Given the description of an element on the screen output the (x, y) to click on. 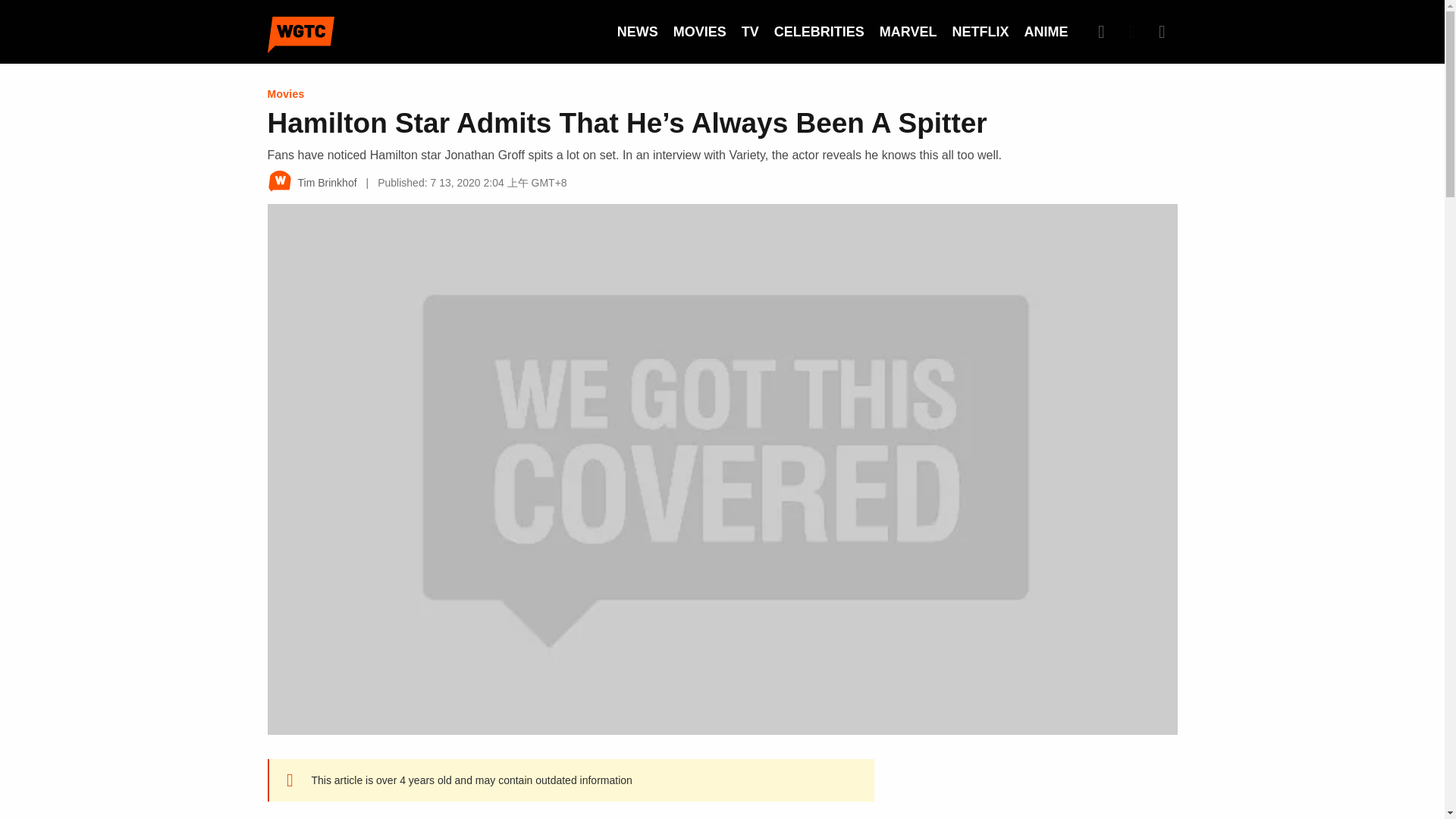
CELEBRITIES (819, 31)
ANIME (1045, 31)
MARVEL (908, 31)
NETFLIX (980, 31)
Dark Mode (1131, 31)
TV (749, 31)
Search (1101, 31)
NEWS (637, 31)
MOVIES (699, 31)
Expand Menu (1161, 31)
